Given the description of an element on the screen output the (x, y) to click on. 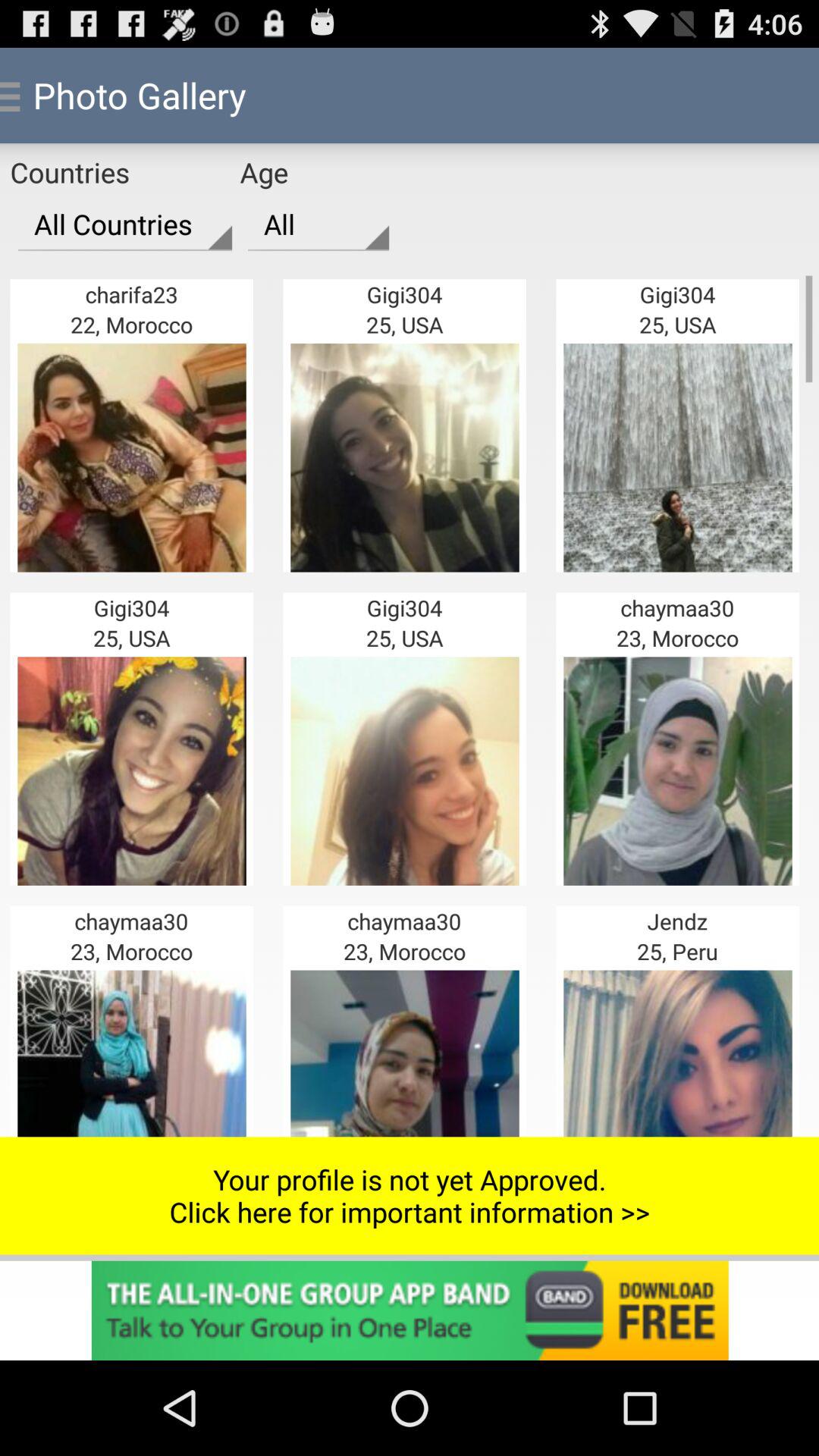
download different app (409, 1310)
